Given the description of an element on the screen output the (x, y) to click on. 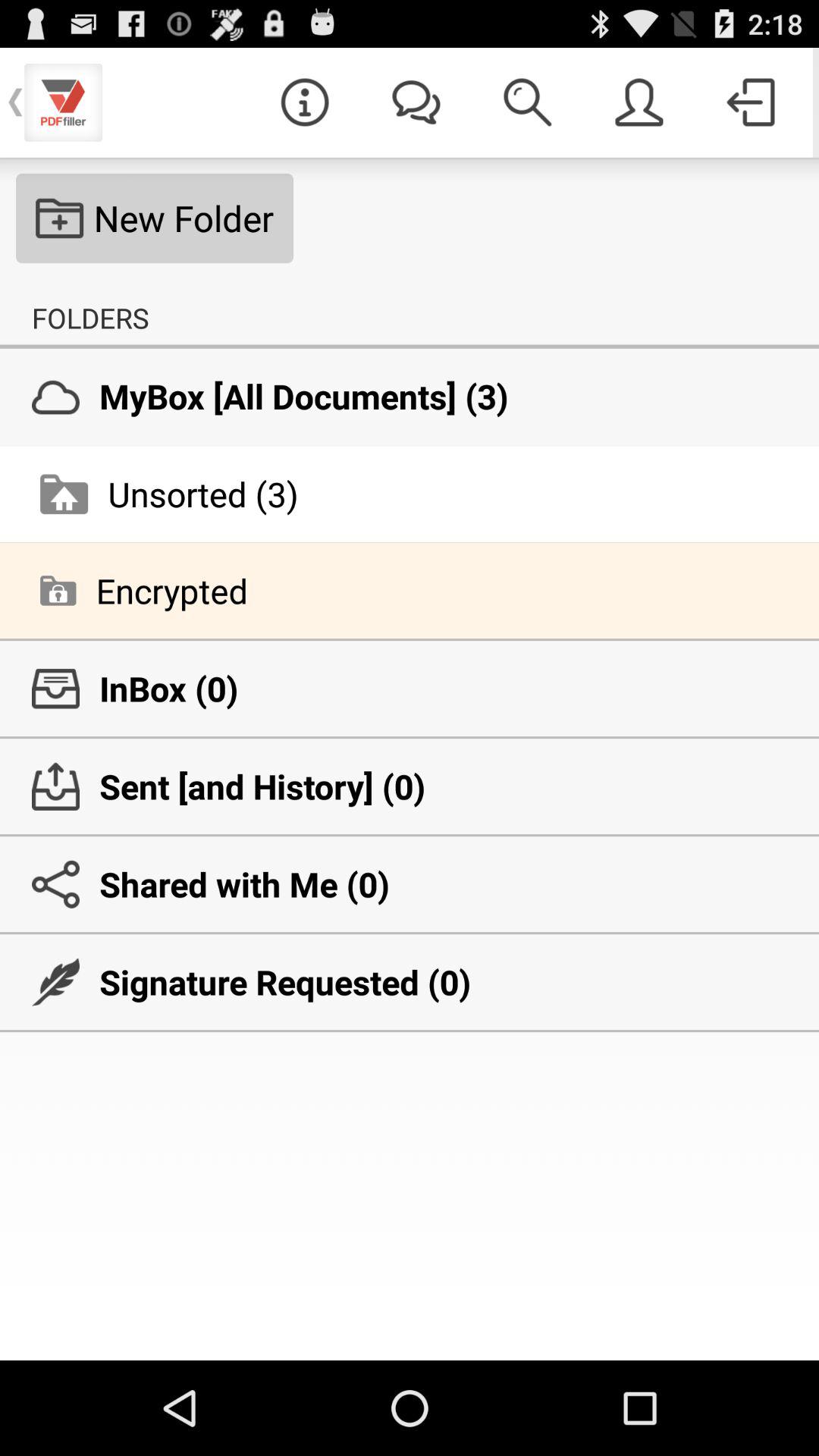
flip to signature requested (0) icon (409, 982)
